Given the description of an element on the screen output the (x, y) to click on. 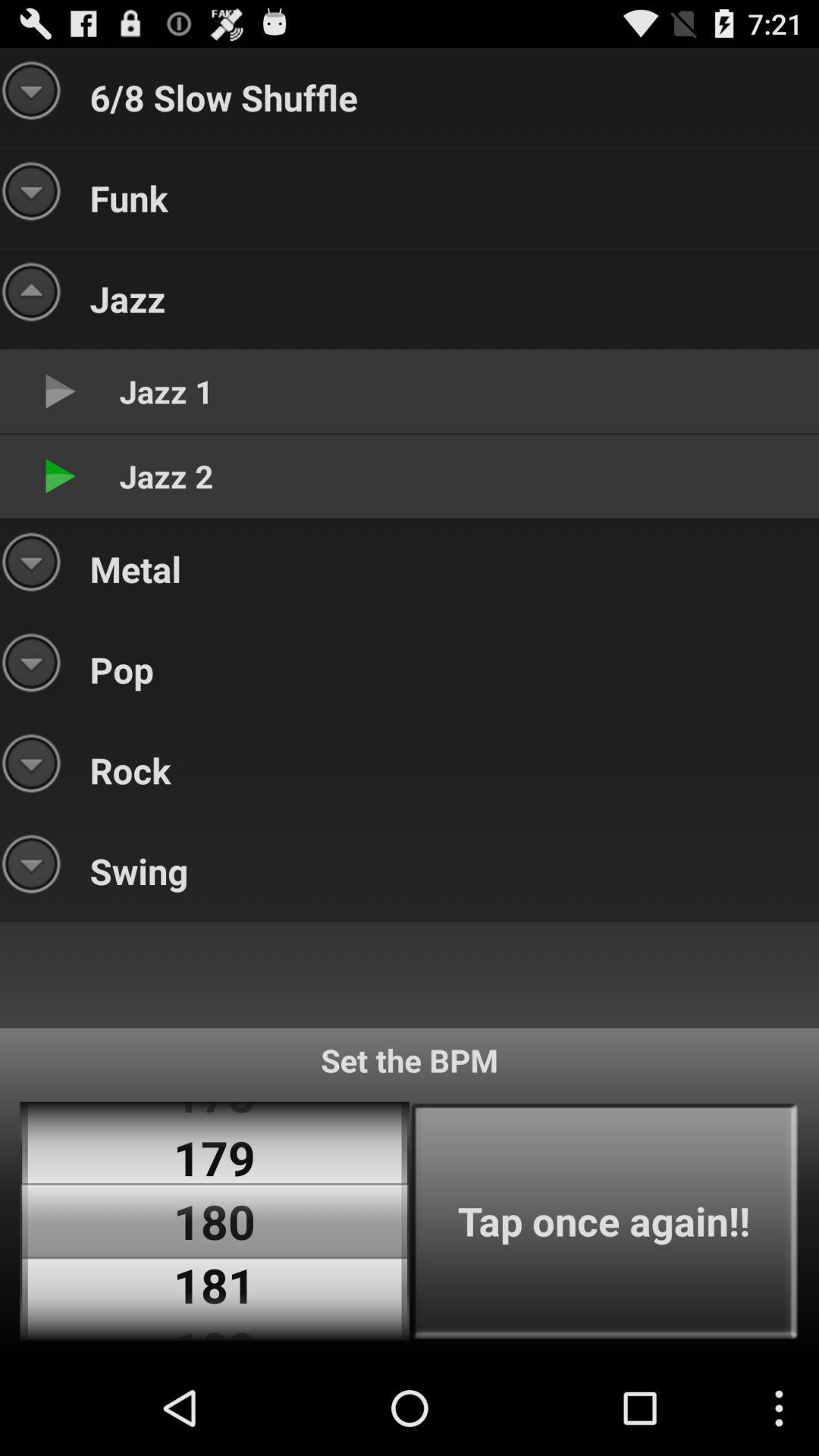
jump to the tap tempo item (604, 1220)
